Given the description of an element on the screen output the (x, y) to click on. 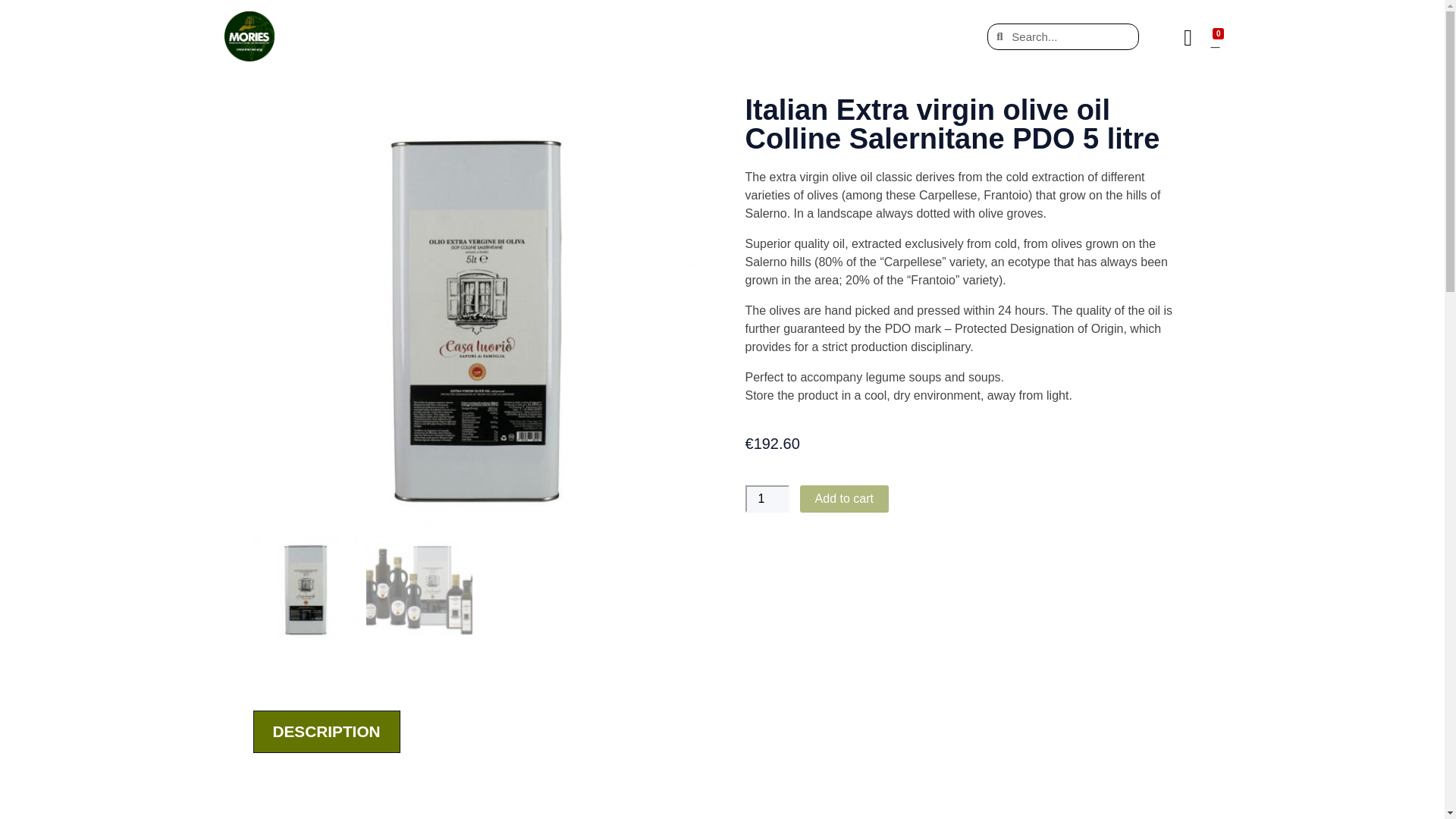
DESCRIPTION (325, 731)
Add to cart (843, 498)
1 (766, 498)
